Given the description of an element on the screen output the (x, y) to click on. 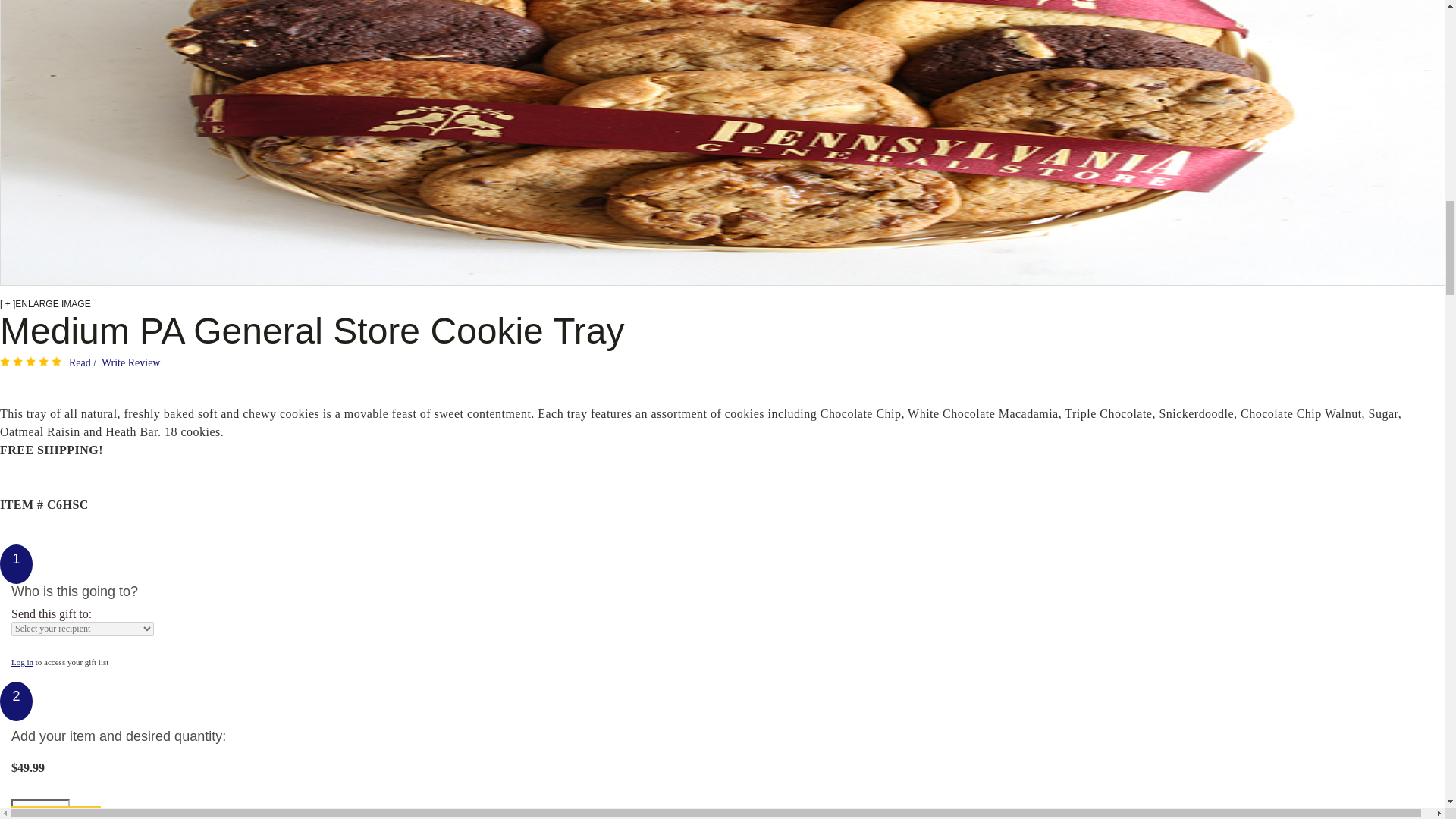
Add to Cart (55, 812)
1 (40, 809)
